Given the description of an element on the screen output the (x, y) to click on. 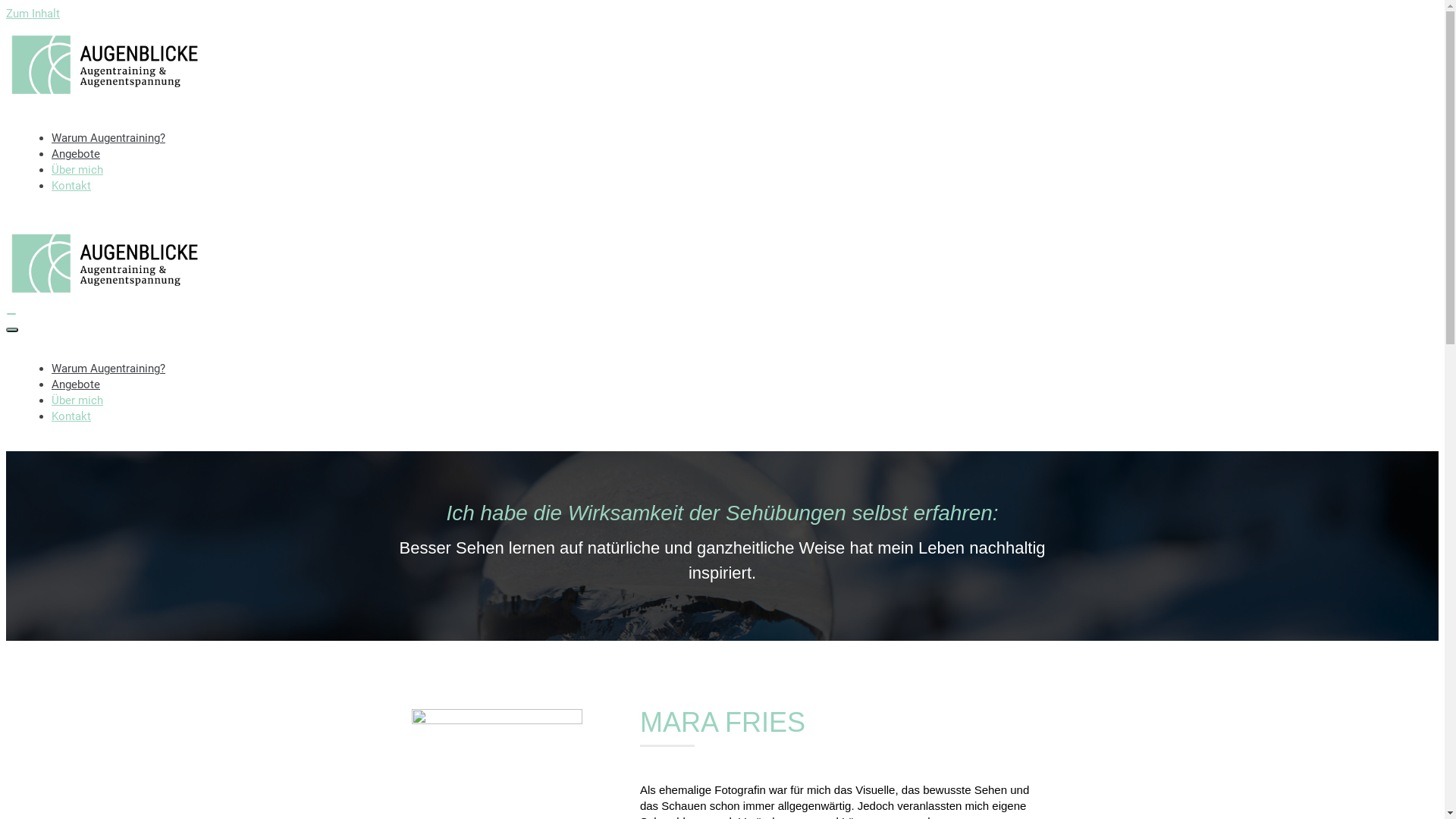
Augenblicke Element type: hover (104, 294)
Zum Inhalt Element type: text (32, 13)
Kontakt Element type: text (71, 416)
Warum Augentraining? Element type: text (108, 137)
Warum Augentraining? Element type: text (108, 368)
Augenblicke Element type: hover (104, 95)
Angebote Element type: text (75, 153)
Angebote Element type: text (75, 384)
Kontakt Element type: text (71, 185)
